Given the description of an element on the screen output the (x, y) to click on. 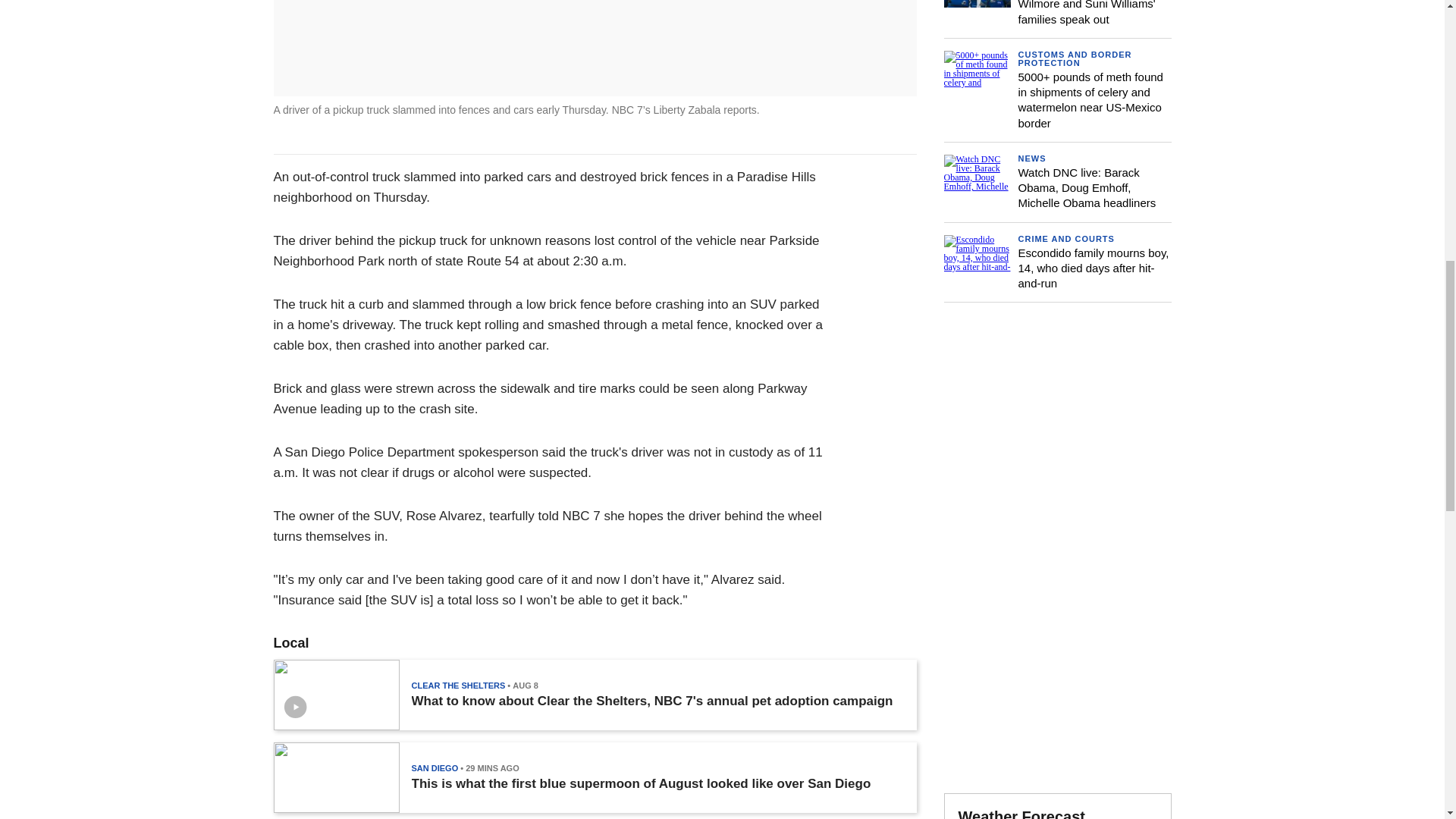
CLEAR THE SHELTERS (457, 685)
SAN DIEGO (434, 768)
